Given the description of an element on the screen output the (x, y) to click on. 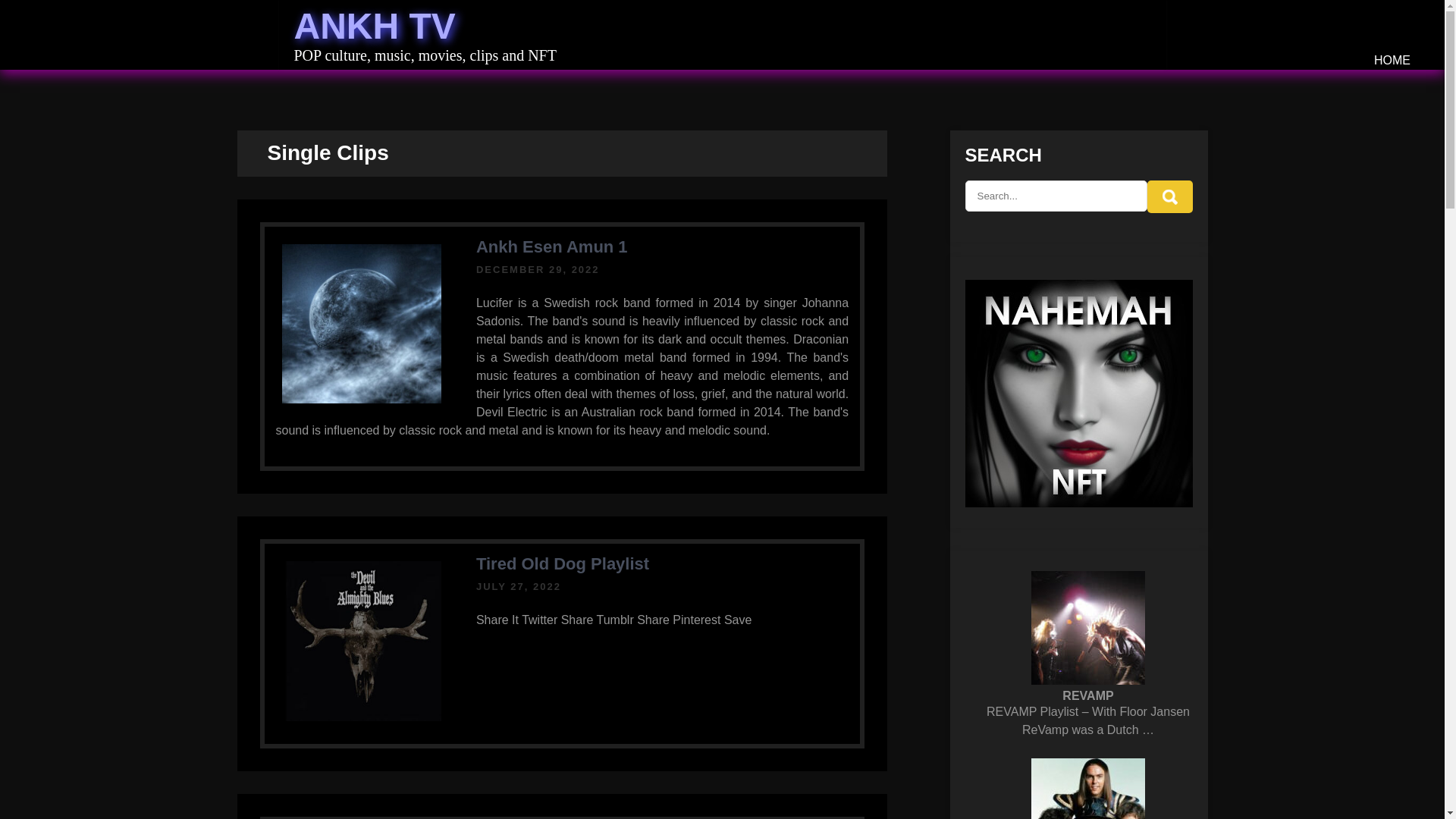
Ankh Esen Amun 1 (551, 246)
From REVAMP Gallery (1087, 627)
REVAMP (1087, 695)
Search (1169, 196)
NAHEMAH NFT - OpenSea Gallery (1077, 393)
From Tired Old Dog Gallery (362, 641)
Tired Old Dog Playlist (562, 563)
From SLADE Gallery (1087, 788)
ANKH TV (374, 25)
Search (1169, 196)
From Dark Moon Gallery (362, 324)
Search (1169, 196)
